Given the description of an element on the screen output the (x, y) to click on. 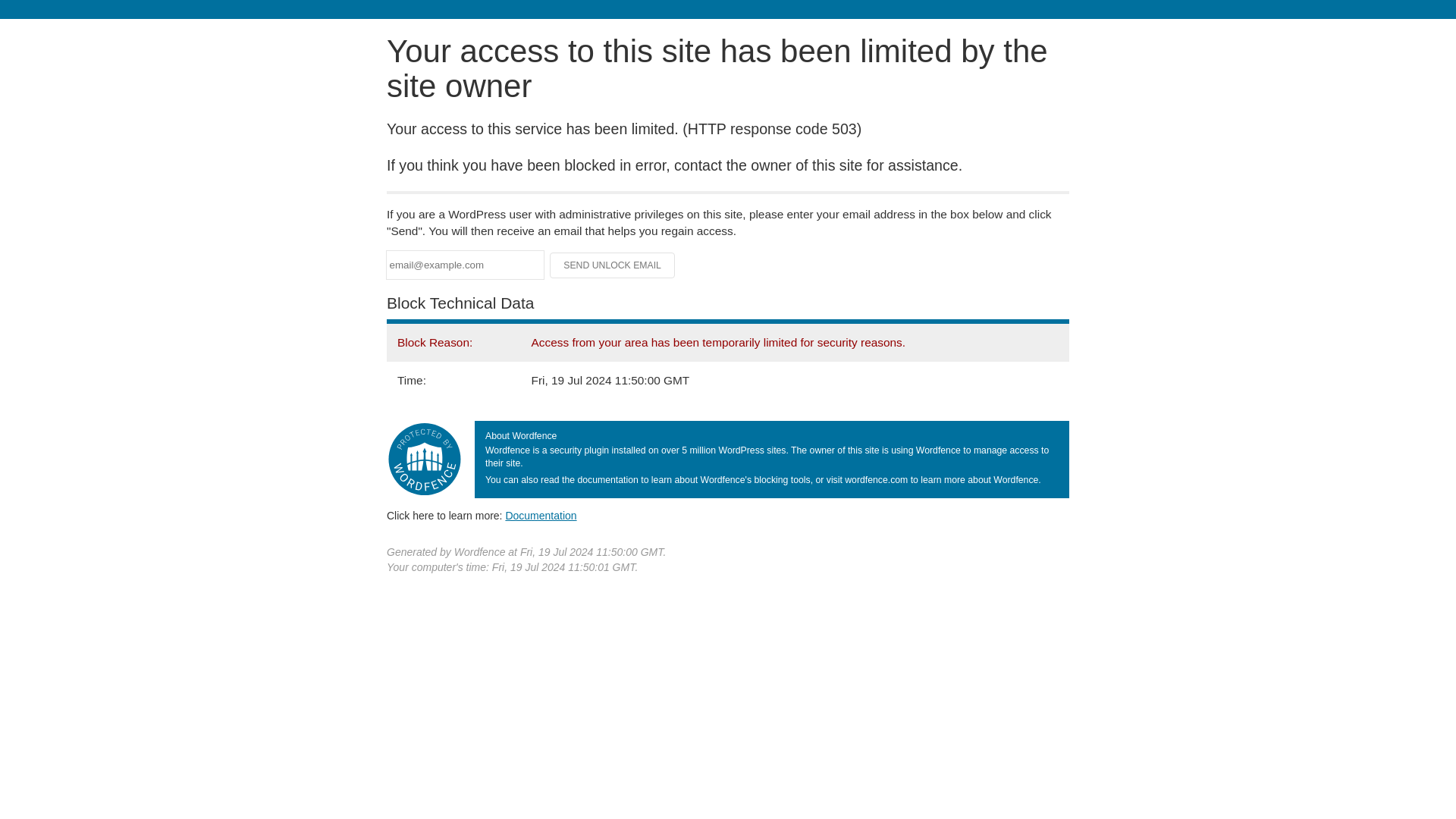
Documentation (540, 515)
Send Unlock Email (612, 265)
Send Unlock Email (612, 265)
